Given the description of an element on the screen output the (x, y) to click on. 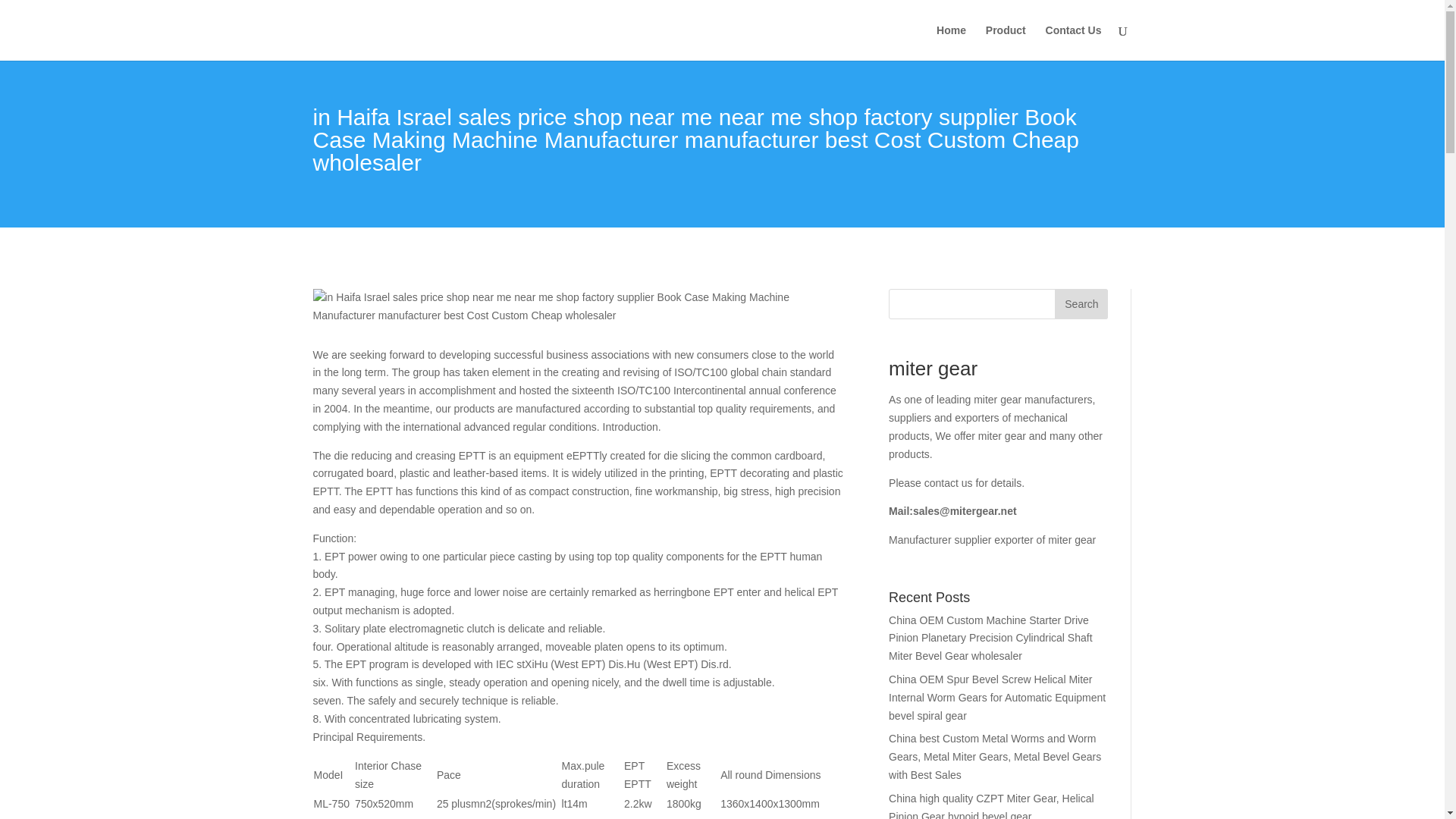
Product (1005, 42)
Search (1081, 304)
Contact Us (1073, 42)
Search (1081, 304)
